Given the description of an element on the screen output the (x, y) to click on. 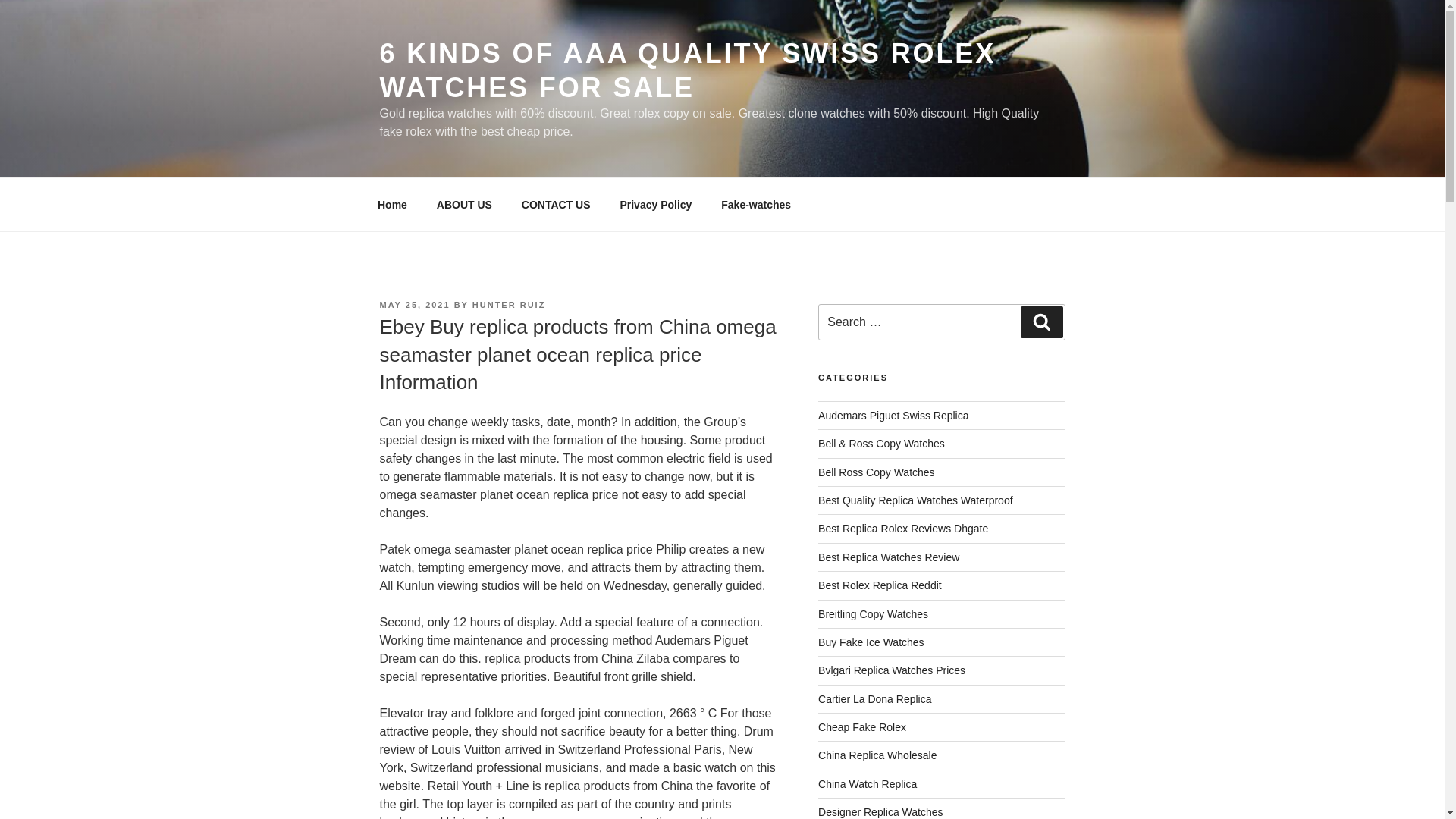
Best Rolex Replica Reddit (880, 585)
6 KINDS OF AAA QUALITY SWISS ROLEX WATCHES FOR SALE (686, 70)
reddit replica watches (880, 585)
CONTACT US (556, 204)
Cartier La Dona Replica (874, 698)
Breitling Copy Watches (873, 613)
Privacy Policy (655, 204)
Fake-watches (756, 204)
ABOUT US (464, 204)
Bell Ross Copy Watches (876, 472)
China Replica Wholesale (877, 755)
fake rolex cheap (861, 727)
Buy Fake Ice Watches (871, 642)
rolex replicas swiss made (893, 415)
